Given the description of an element on the screen output the (x, y) to click on. 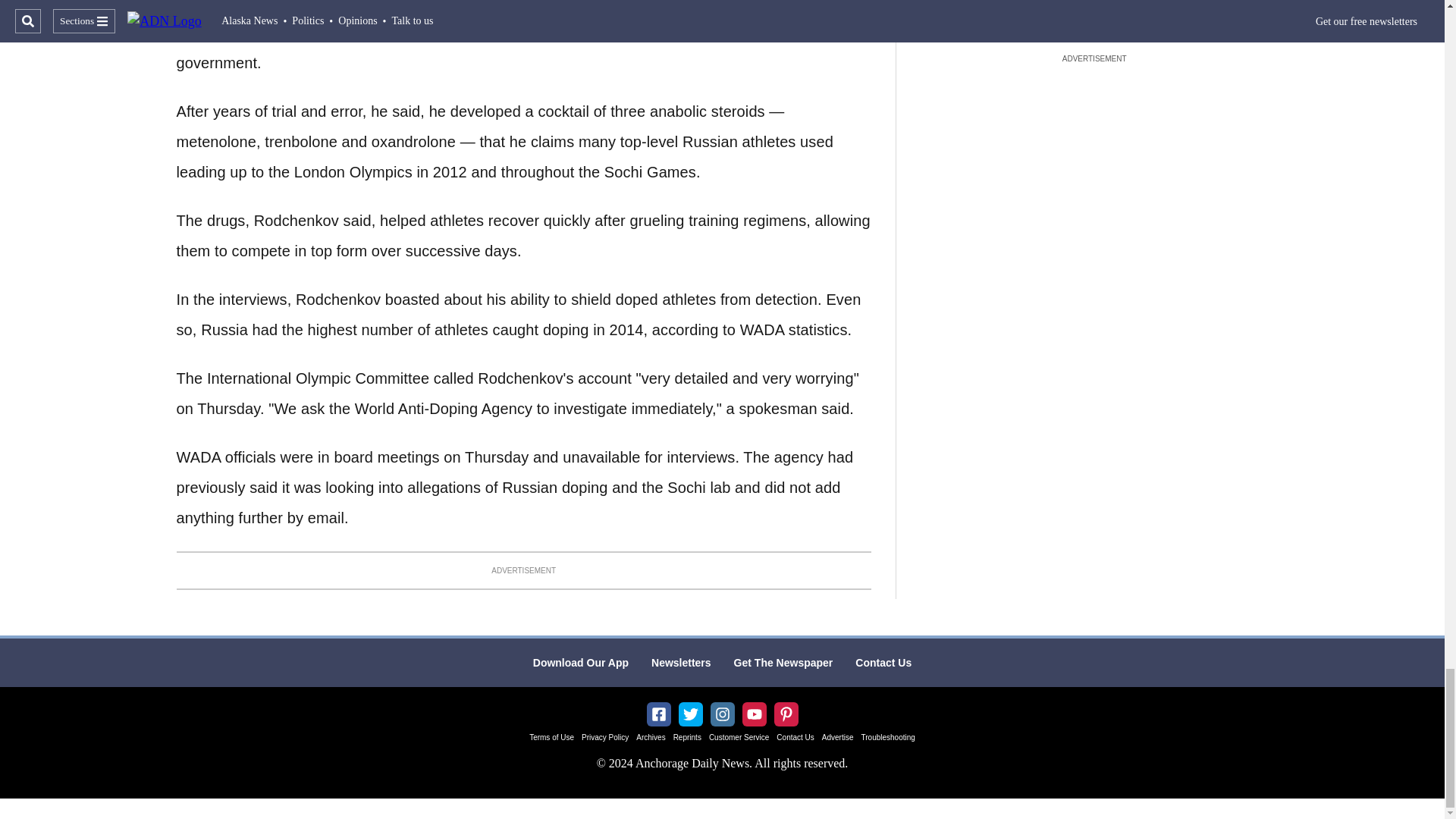
Facebook IconAnchorage Daily News Facebook Page (657, 713)
PinterestAnchorage Daily News Pinterest Account (785, 713)
Instagram IconAnchorage Daily News instagram account (721, 713)
YouTube iconAnchorage Daily News YouTube channel (753, 713)
Twitter IconTwitter Account for Anchorage Daily News (689, 713)
